Given the description of an element on the screen output the (x, y) to click on. 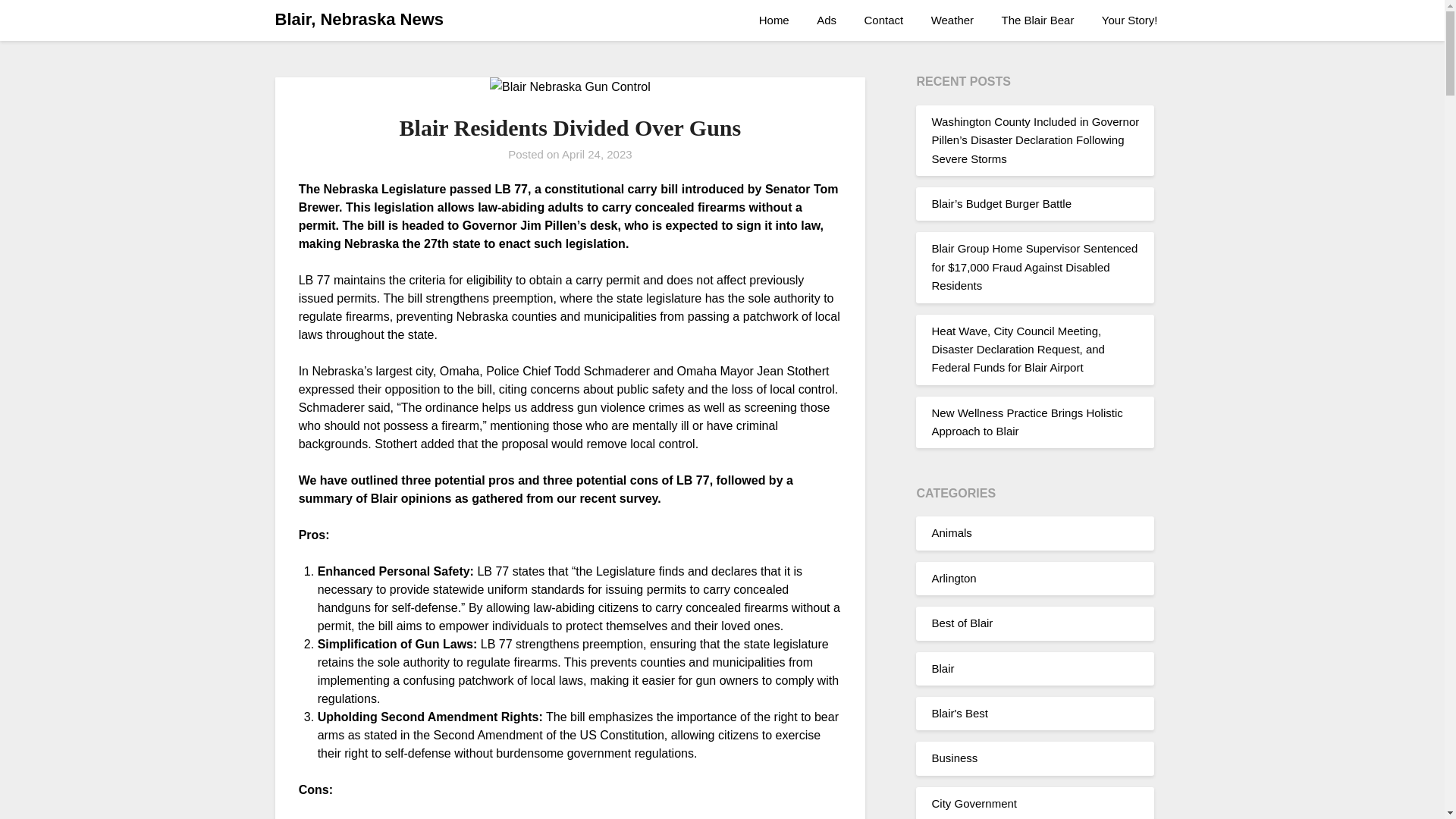
Blair (942, 631)
Blair Lighthouse, Initial Community Reactions (1018, 339)
Your Story! (1129, 20)
City Government (973, 766)
Crime (945, 810)
Animals (951, 495)
Arlington (953, 540)
Ads (826, 20)
Business (953, 720)
